Given the description of an element on the screen output the (x, y) to click on. 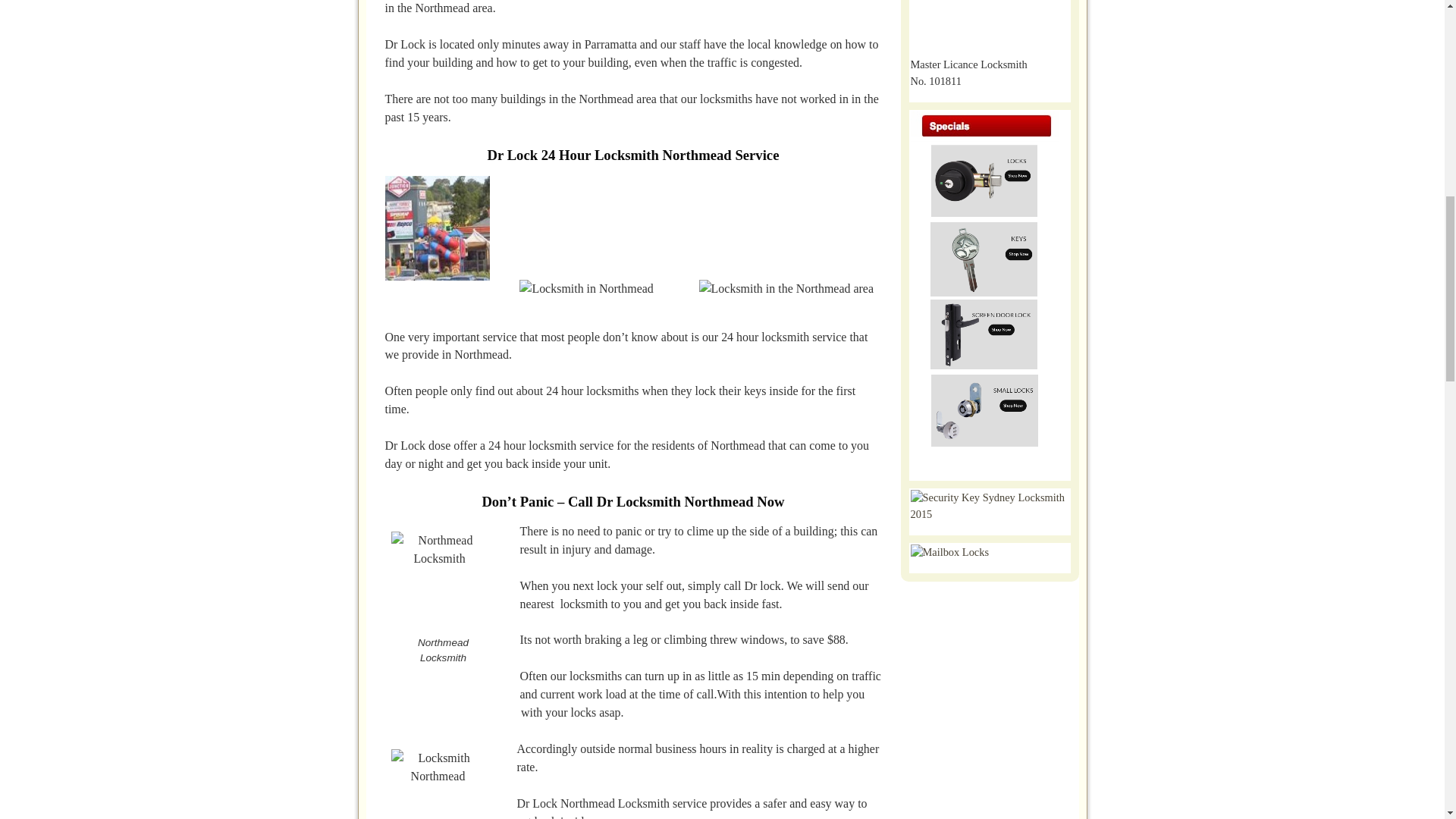
Locksmith in Northmead (585, 289)
Northmead Locksmith (439, 579)
Locksmith Northmead Dr Lock (437, 228)
Locksmith in the Northmead area (785, 289)
Locksmith Northmead (437, 784)
